Given the description of an element on the screen output the (x, y) to click on. 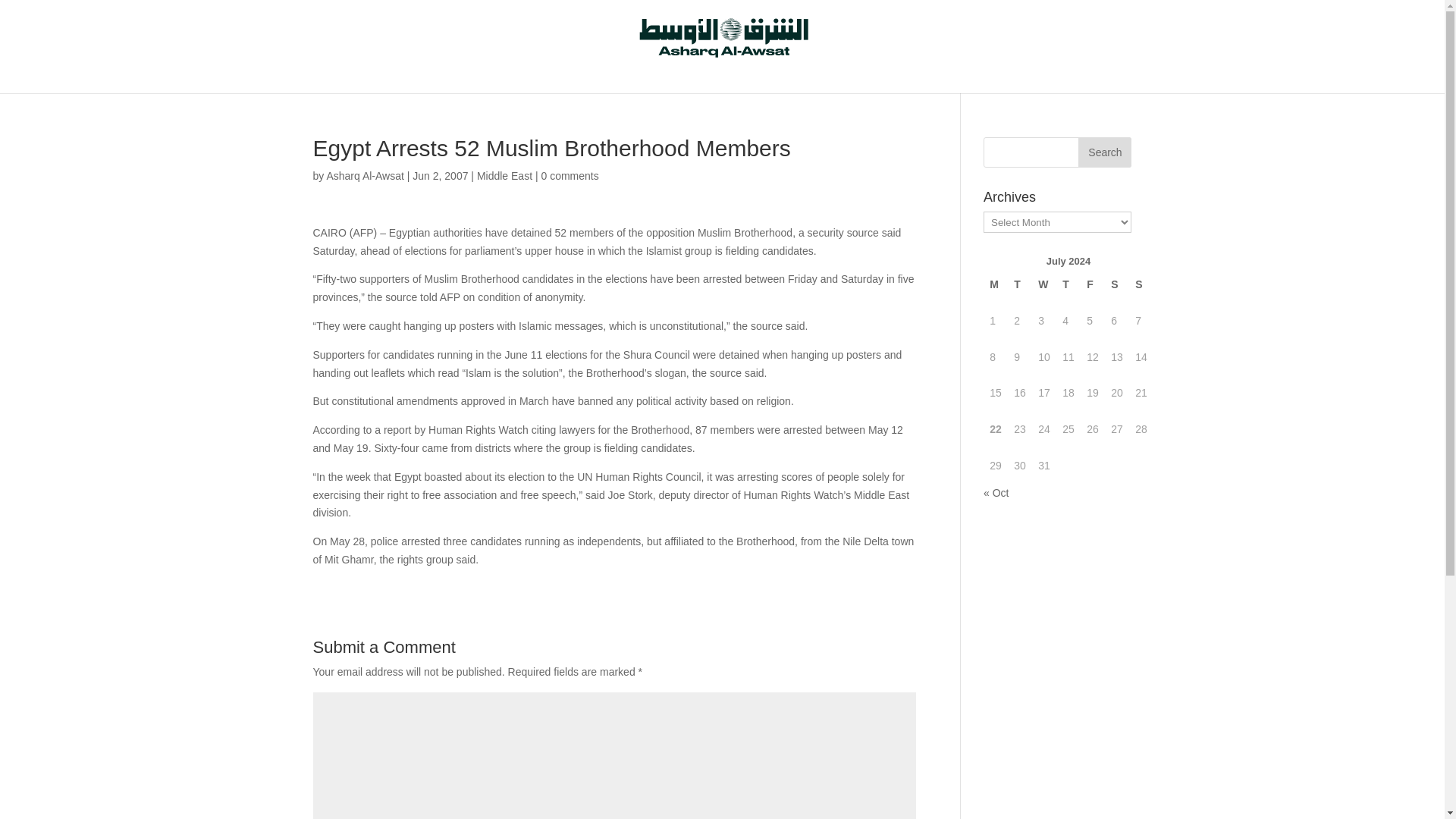
Wednesday (1044, 284)
Sunday (1141, 284)
Friday (1092, 284)
Saturday (1117, 284)
Search (1104, 152)
Tuesday (1019, 284)
Thursday (1068, 284)
Search (1104, 152)
Asharq Al-Awsat (364, 175)
0 comments (569, 175)
Posts by Asharq Al-Awsat (364, 175)
Middle East (504, 175)
Monday (995, 284)
